Given the description of an element on the screen output the (x, y) to click on. 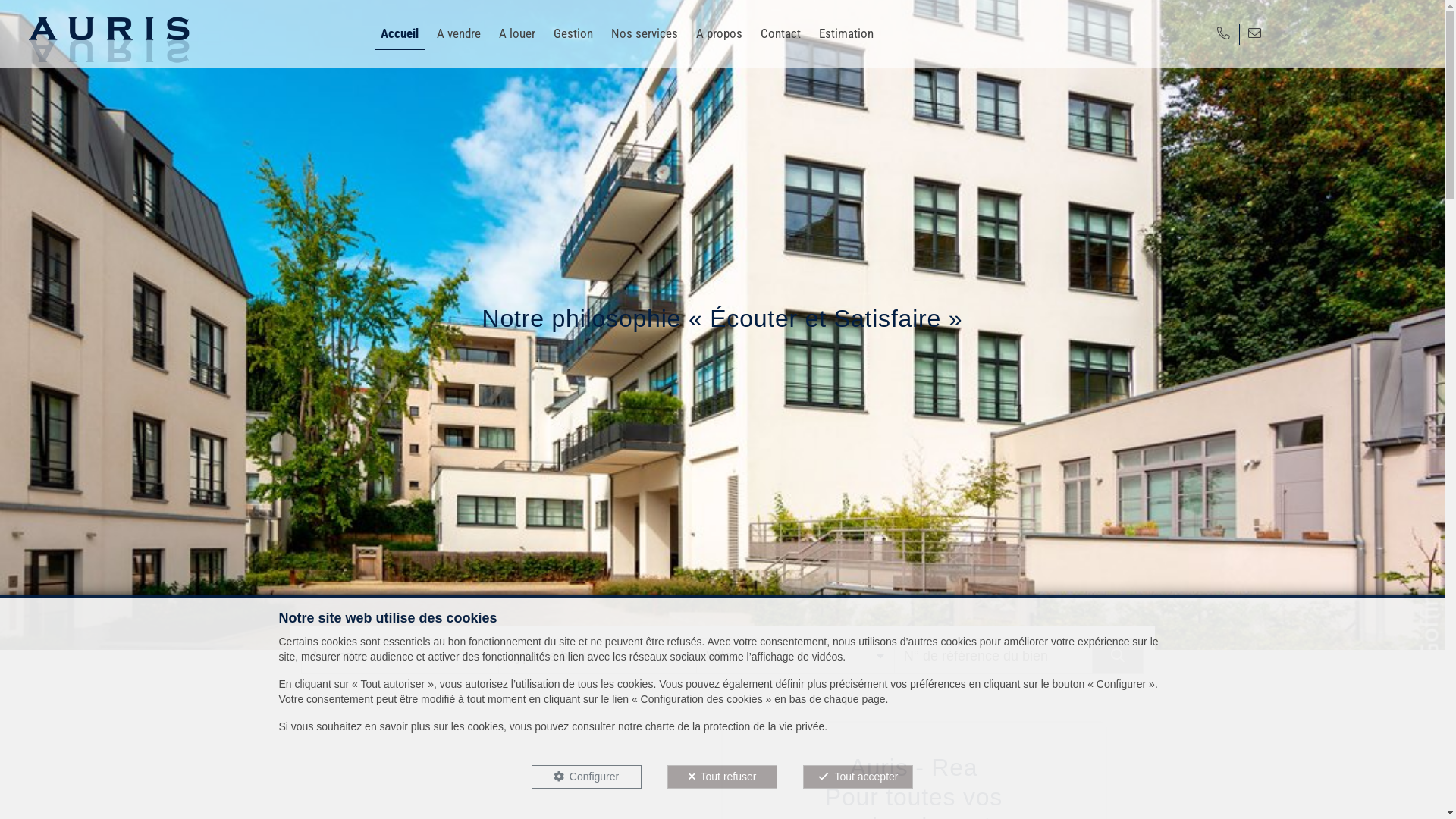
Tout accepter Element type: text (858, 776)
Nos services Element type: text (644, 33)
Configurer Element type: text (586, 776)
Contact Element type: text (780, 33)
Tout refuser Element type: text (722, 776)
Gestion Element type: text (573, 33)
A propos Element type: text (719, 33)
A vendre Element type: text (458, 33)
Estimation Element type: text (845, 33)
A louer Element type: text (516, 33)
Accueil Element type: text (399, 33)
